Given the description of an element on the screen output the (x, y) to click on. 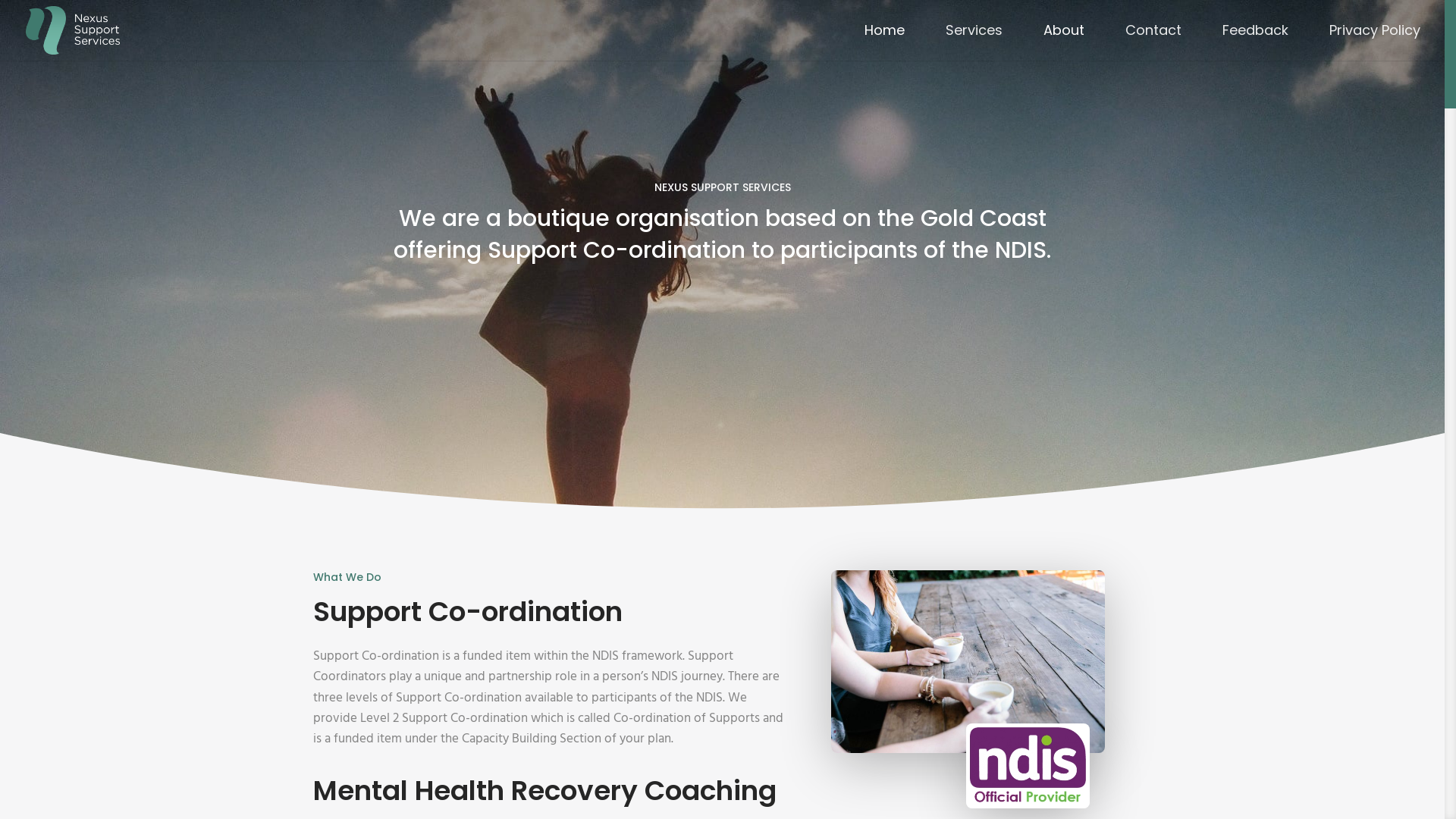
About Element type: text (1063, 42)
Contact Element type: text (1153, 42)
Services Element type: text (973, 42)
Privacy Policy Element type: text (1374, 42)
Home Element type: text (884, 42)
Feedback Element type: text (1255, 42)
ndis-logo-300x201 Element type: hover (1027, 765)
